Given the description of an element on the screen output the (x, y) to click on. 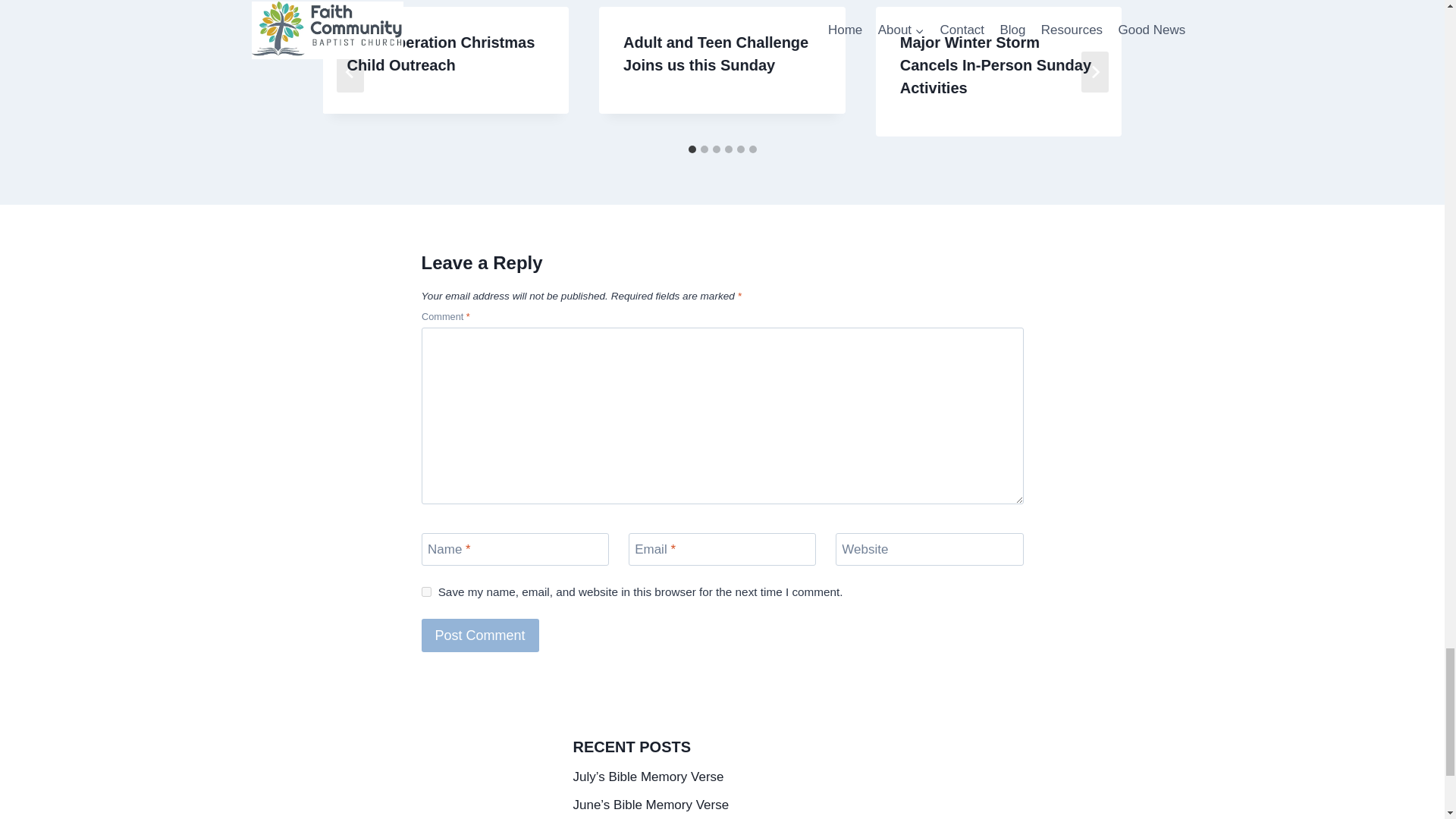
Post Comment (480, 635)
yes (426, 592)
